Given the description of an element on the screen output the (x, y) to click on. 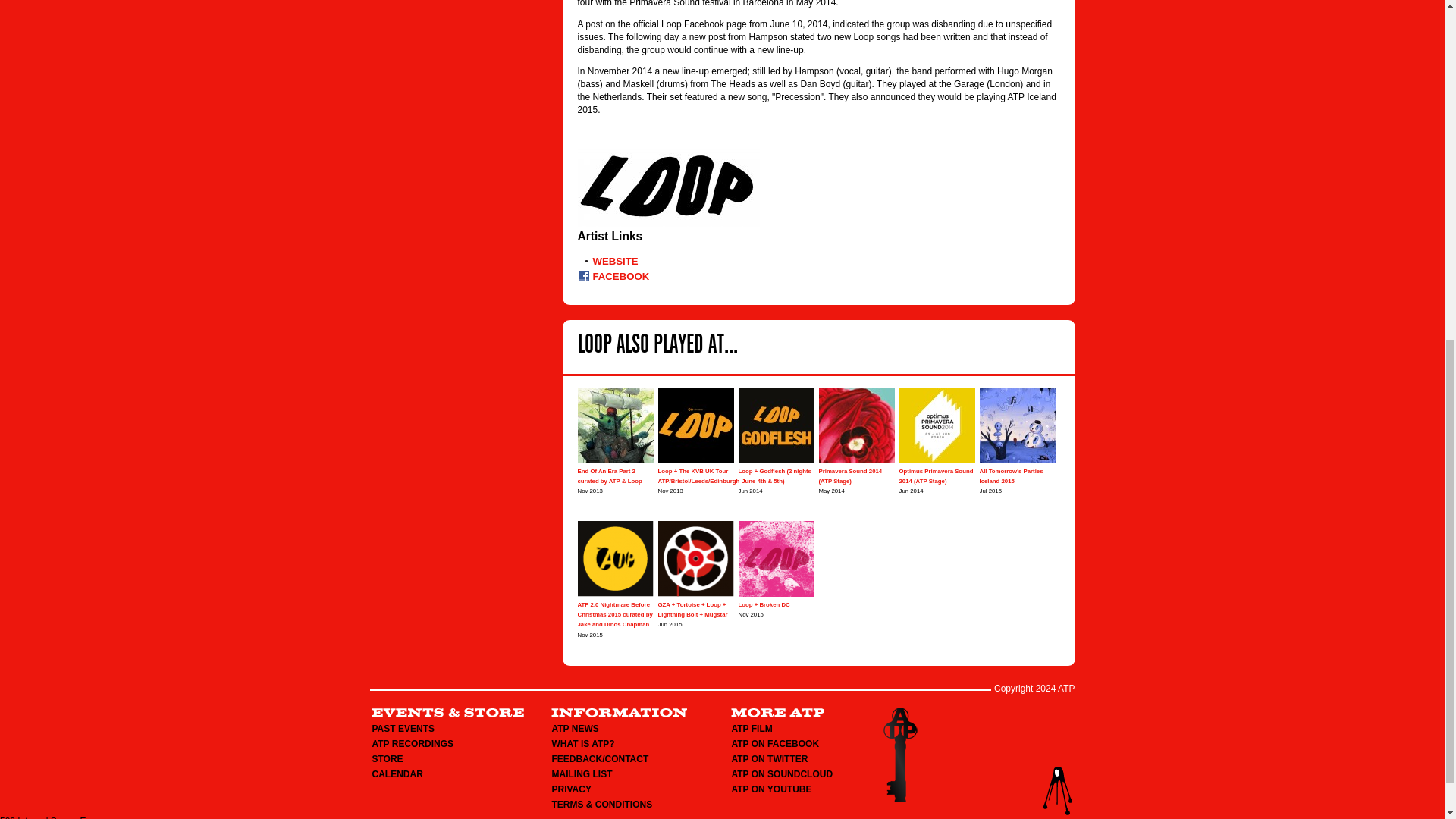
STORE (387, 758)
FACEBOOK (620, 276)
ATP RECORDINGS (411, 743)
PRIVACY (571, 788)
MAILING LIST (581, 774)
All Tomorrow's Parties Iceland 2015 (1011, 475)
ATP ON FACEBOOK (774, 743)
WEBSITE (615, 260)
ATP FILM (750, 728)
